Given the description of an element on the screen output the (x, y) to click on. 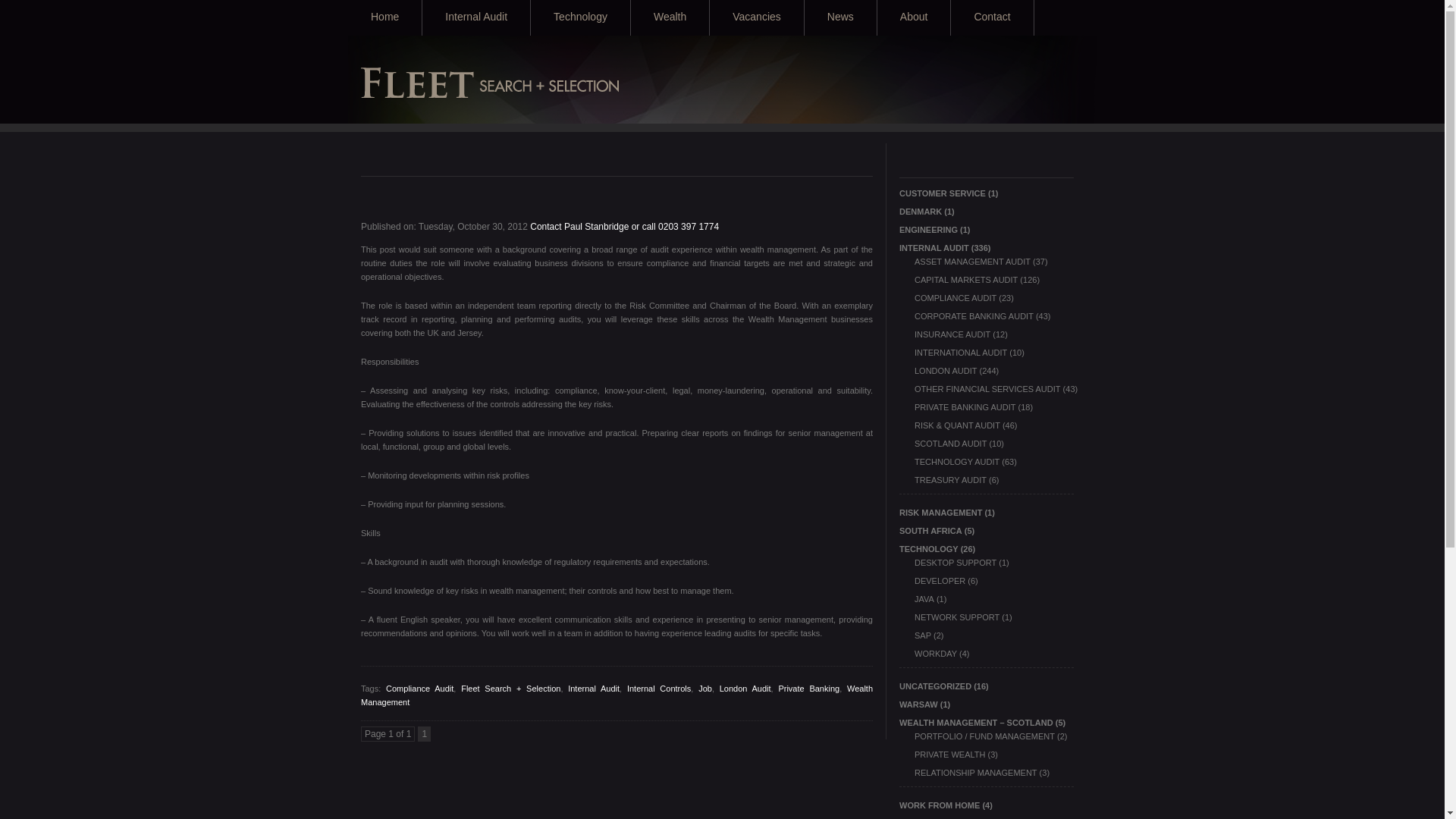
INTERNAL AUDIT (934, 247)
Contact (991, 18)
CORPORATE BANKING AUDIT (973, 316)
SOUTH AFRICA (930, 530)
Compliance Audit (418, 687)
OTHER FINANCIAL SERVICES AUDIT (987, 388)
TECHNOLOGY AUDIT (956, 461)
PRIVATE BANKING AUDIT (964, 406)
CUSTOMER SERVICE (942, 193)
SCOTLAND AUDIT (950, 442)
